Given the description of an element on the screen output the (x, y) to click on. 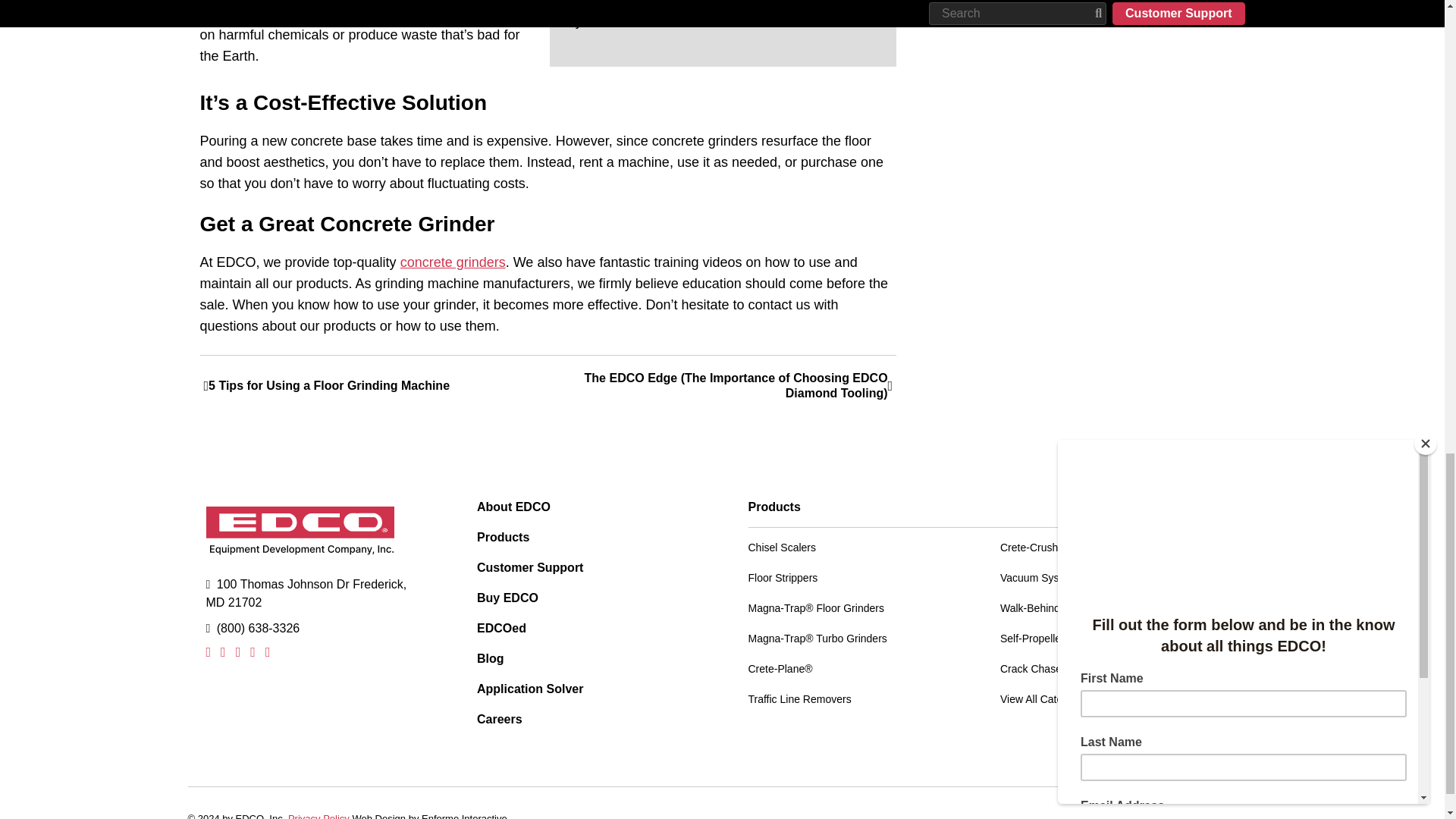
industrial dust vacuum (717, 3)
EDCOed (587, 628)
Application Solver (587, 688)
Products (587, 537)
Customer Support (587, 567)
concrete grinders (452, 262)
Buy EDCO (587, 598)
About EDCO (587, 507)
Blog (587, 658)
5 Tips for Using a Floor Grinding Machine (376, 385)
